Given the description of an element on the screen output the (x, y) to click on. 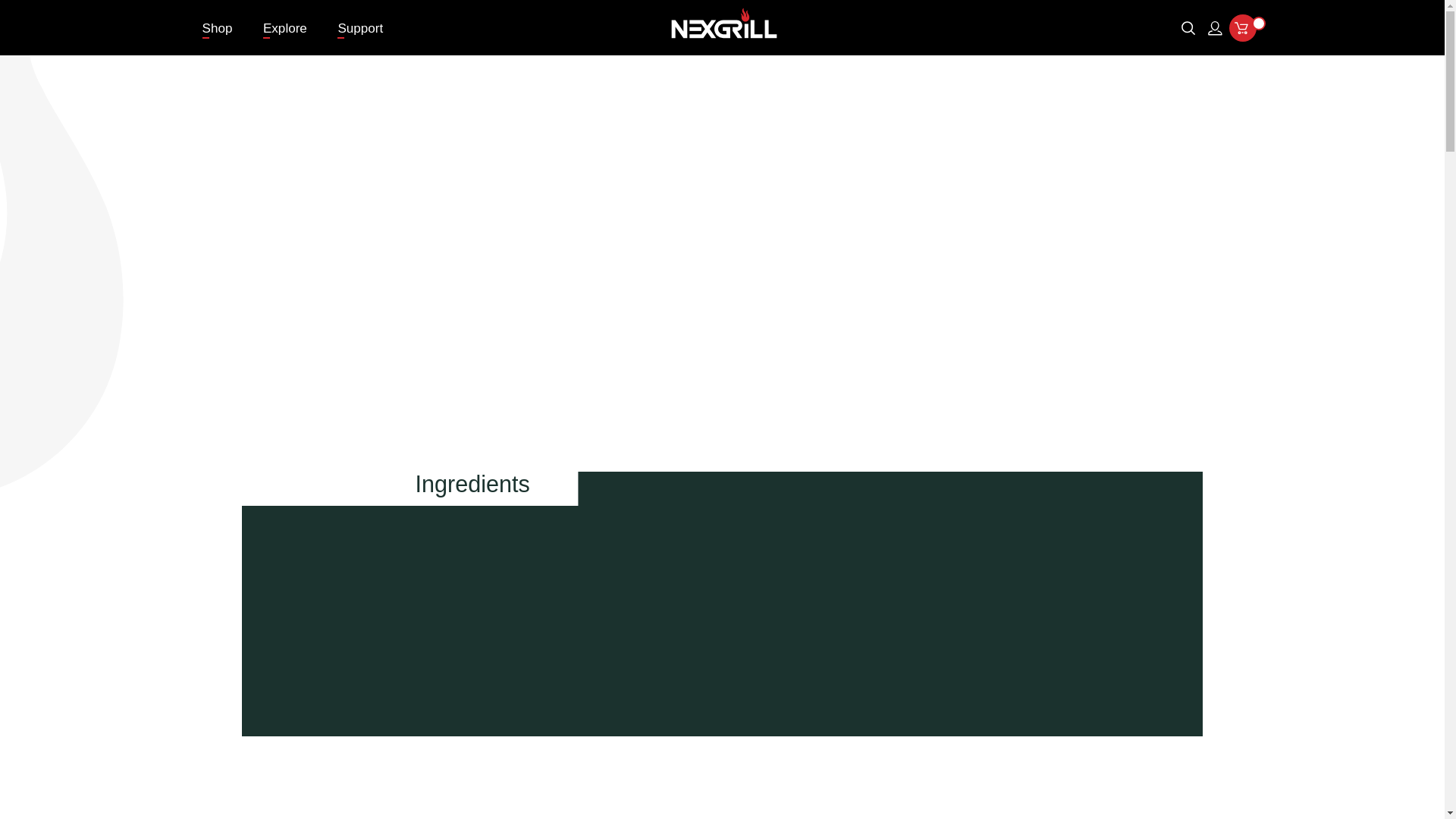
View Cart (1242, 27)
Chat Widget (37, 782)
Support (359, 28)
Search (1188, 27)
Account Login (1215, 27)
Explore (285, 28)
Shop (216, 28)
